Given the description of an element on the screen output the (x, y) to click on. 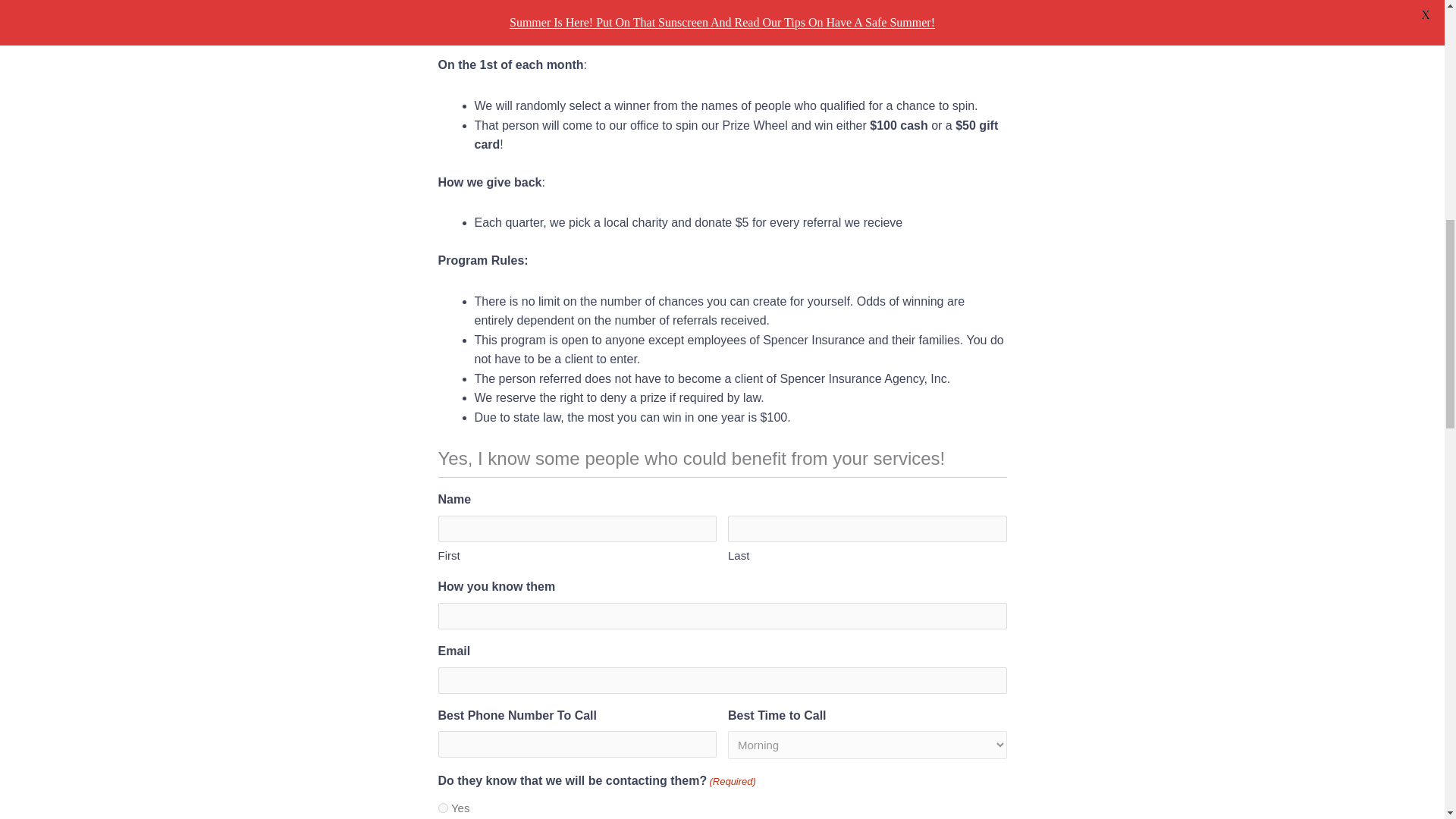
Yes (443, 808)
